Given the description of an element on the screen output the (x, y) to click on. 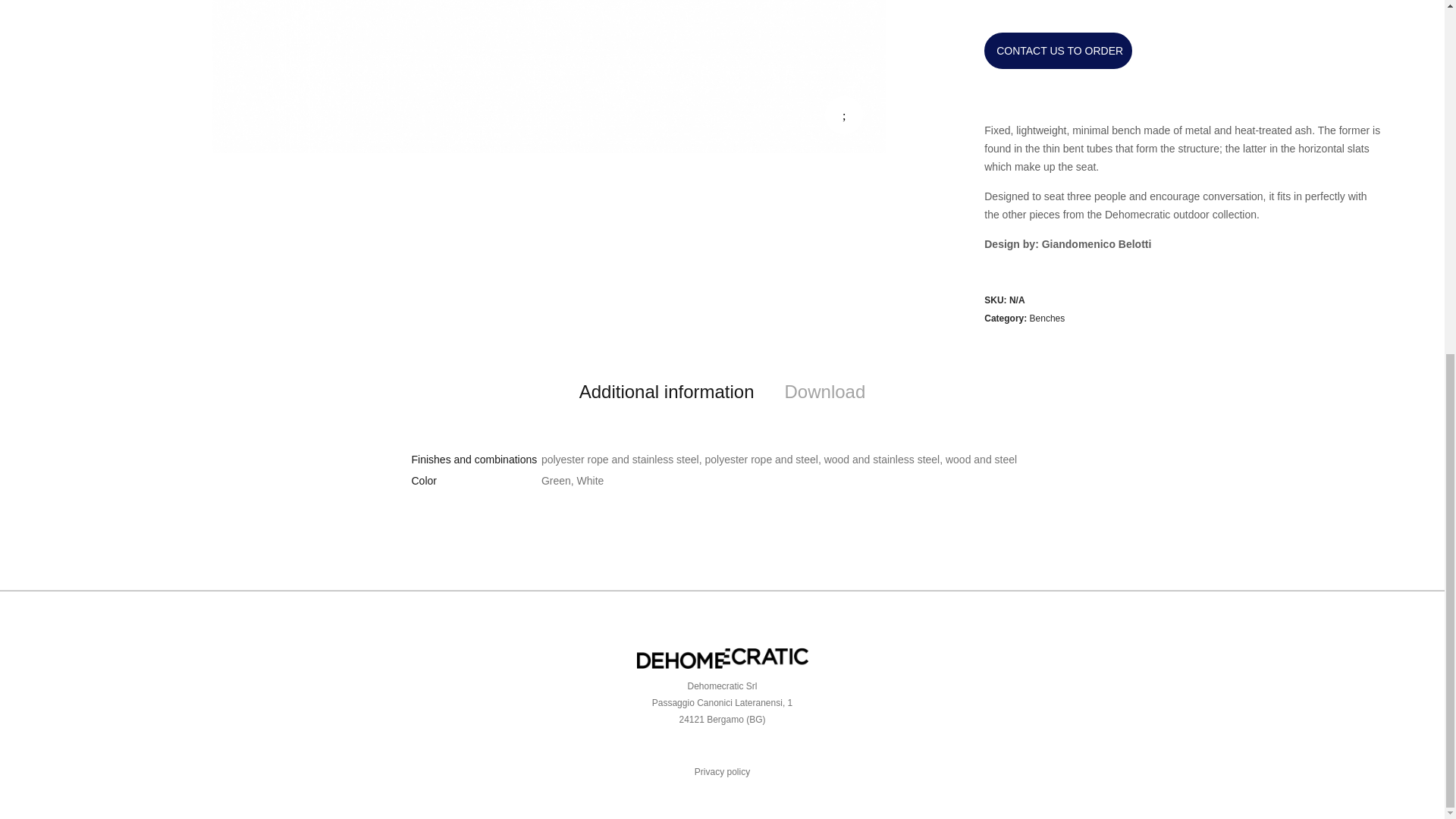
Additional information (666, 392)
CONTACT US TO ORDER (1058, 50)
Privacy policy (721, 771)
Download (825, 392)
Benches (1047, 317)
complicity (549, 76)
